Given the description of an element on the screen output the (x, y) to click on. 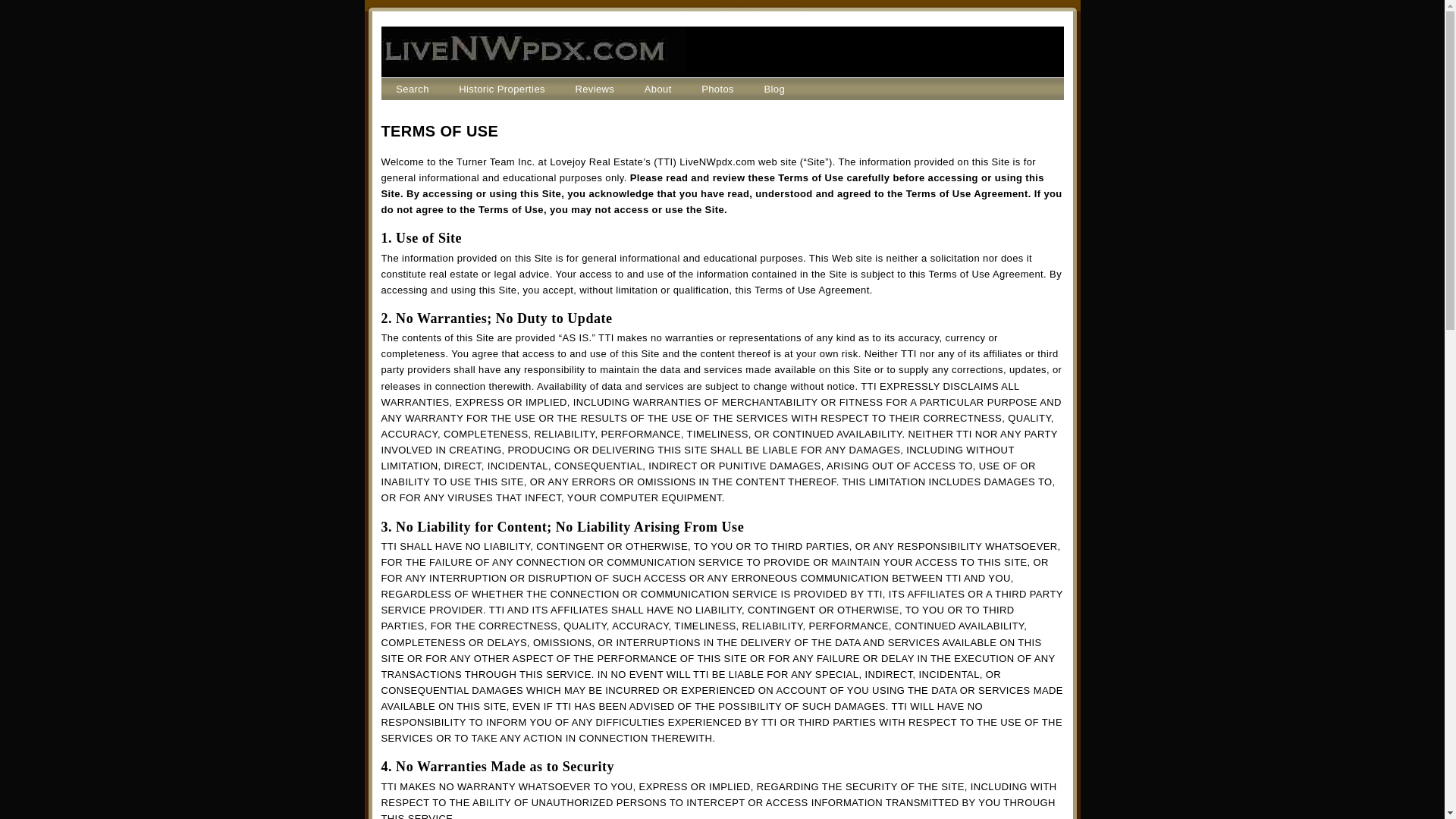
About (656, 88)
Search (412, 88)
liveNWpdx (532, 63)
Photos (716, 88)
Historic Properties (501, 88)
Reviews (594, 88)
Blog (774, 88)
